Given the description of an element on the screen output the (x, y) to click on. 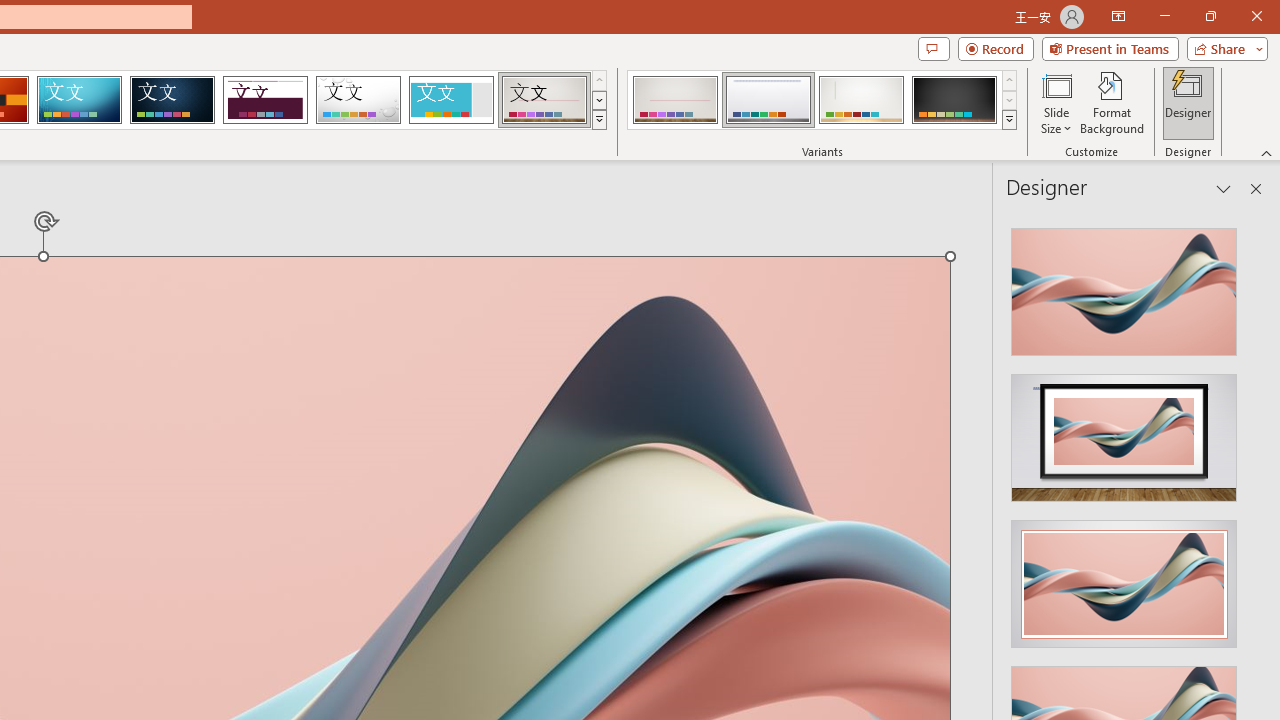
Variants (1009, 120)
AutomationID: ThemeVariantsGallery (822, 99)
Gallery Variant 4 (953, 100)
Gallery Variant 1 (674, 100)
